Given the description of an element on the screen output the (x, y) to click on. 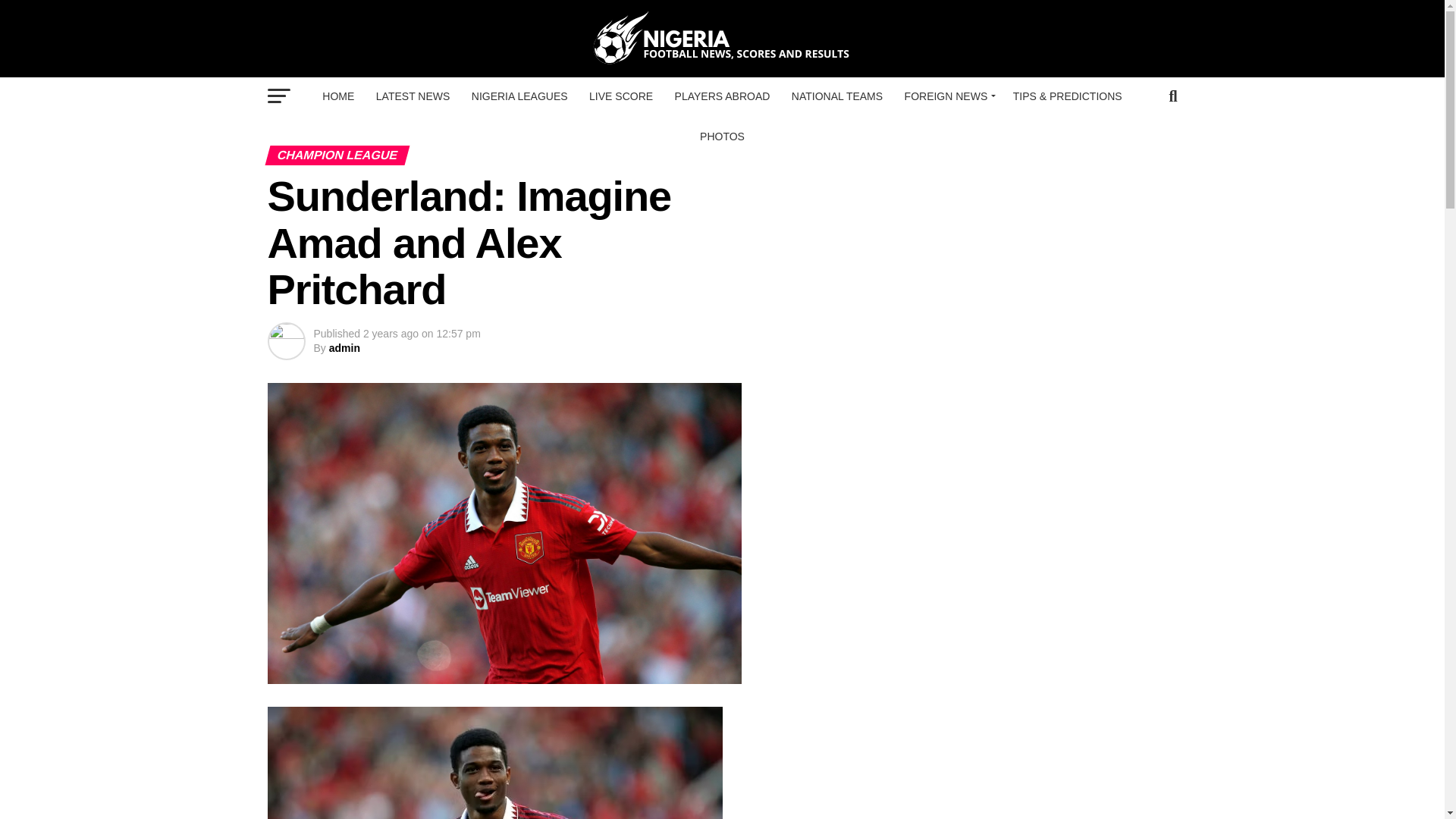
LIVE SCORE (620, 95)
HOME (337, 95)
NATIONAL TEAMS (837, 95)
PLAYERS ABROAD (721, 95)
NIGERIA LEAGUES (519, 95)
LATEST NEWS (413, 95)
